Given the description of an element on the screen output the (x, y) to click on. 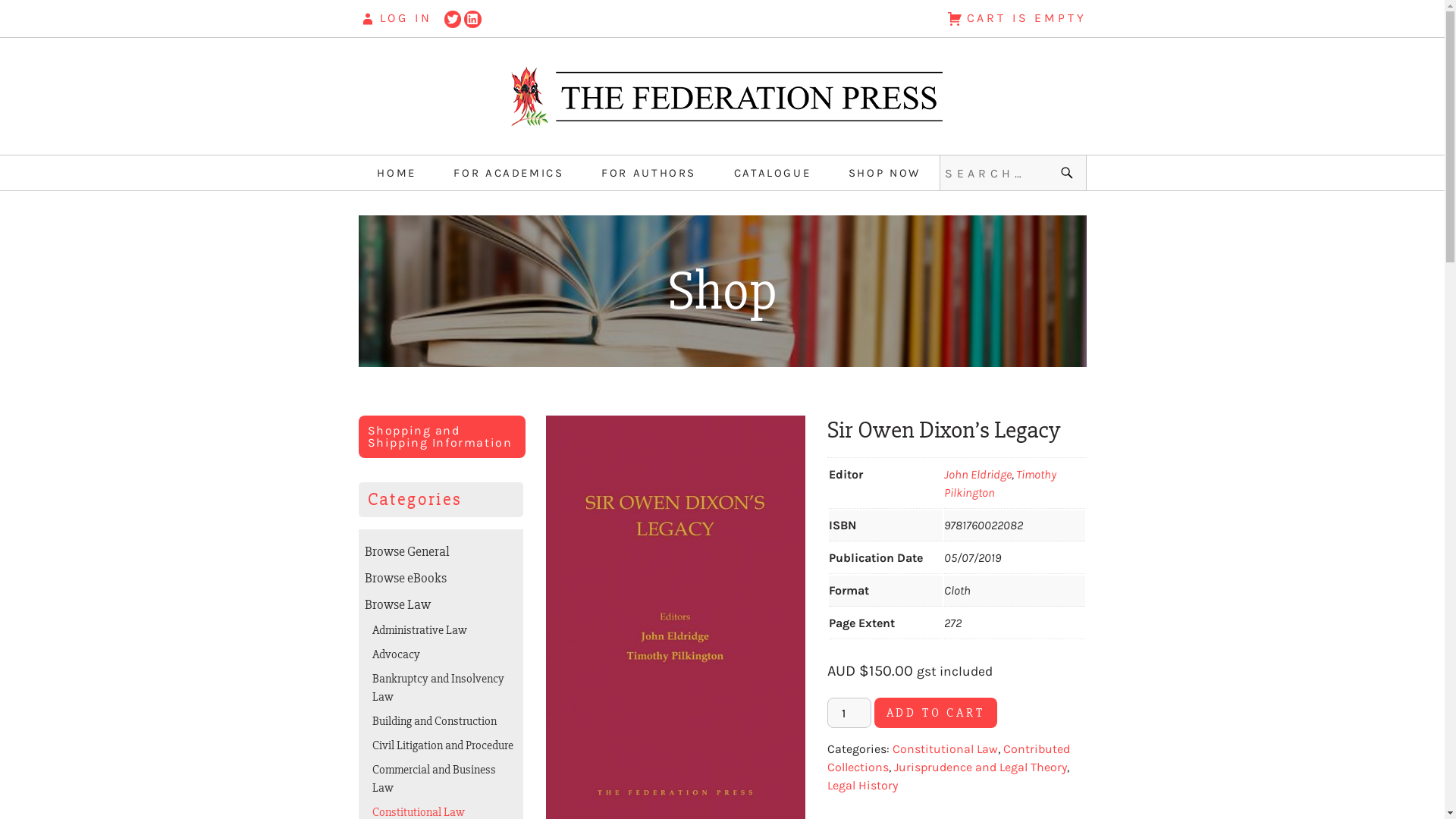
FOR AUTHORS Element type: text (648, 172)
Bankruptcy and Insolvency Law Element type: text (438, 687)
CART IS EMPTY Element type: text (783, 18)
CATALOGUE Element type: text (772, 172)
ADD TO CART Element type: text (935, 712)
HOME Element type: text (396, 172)
Shopping and Shipping Information Element type: text (440, 436)
FOR ACADEMICS Element type: text (508, 172)
Building and Construction Element type: text (434, 720)
John Eldridge Element type: text (976, 474)
Browse General Element type: text (406, 550)
Browse Law Element type: text (396, 604)
Administrative Law Element type: text (419, 629)
Timothy Pilkington Element type: text (999, 483)
Commercial and Business Law Element type: text (433, 778)
SHOP NOW Element type: text (884, 172)
Contributed Collections Element type: text (947, 757)
LOG IN Element type: text (394, 18)
Browse eBooks Element type: text (404, 577)
Legal History Element type: text (861, 785)
Return to homepage Element type: hover (721, 96)
Advocacy Element type: text (396, 654)
Civil Litigation and Procedure Element type: text (442, 745)
Jurisprudence and Legal Theory Element type: text (979, 766)
Constitutional Law Element type: text (944, 748)
Search Element type: hover (1068, 172)
